Given the description of an element on the screen output the (x, y) to click on. 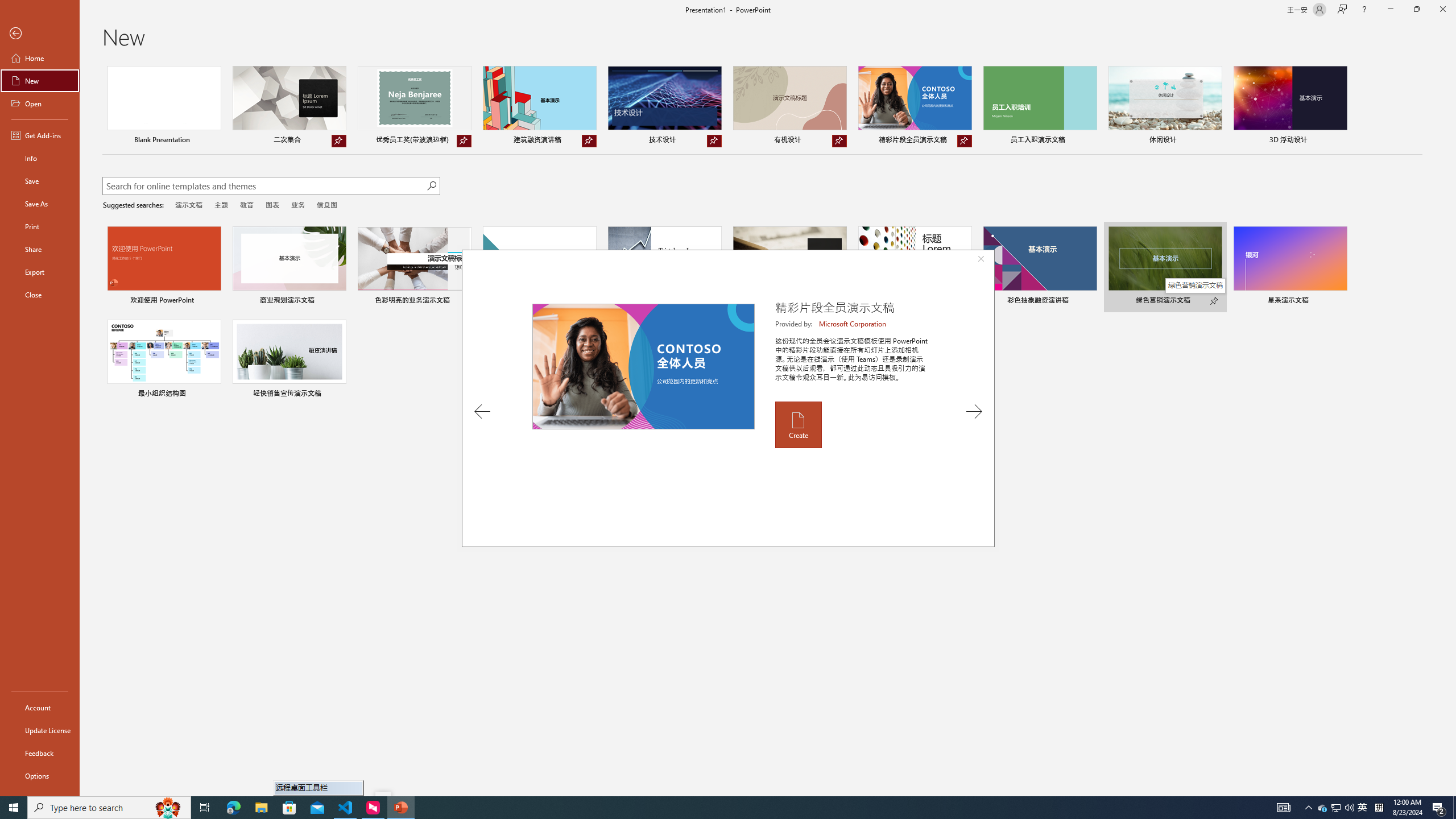
Class: NetUIScrollBar (1450, 428)
Blank Presentation (164, 106)
